Given the description of an element on the screen output the (x, y) to click on. 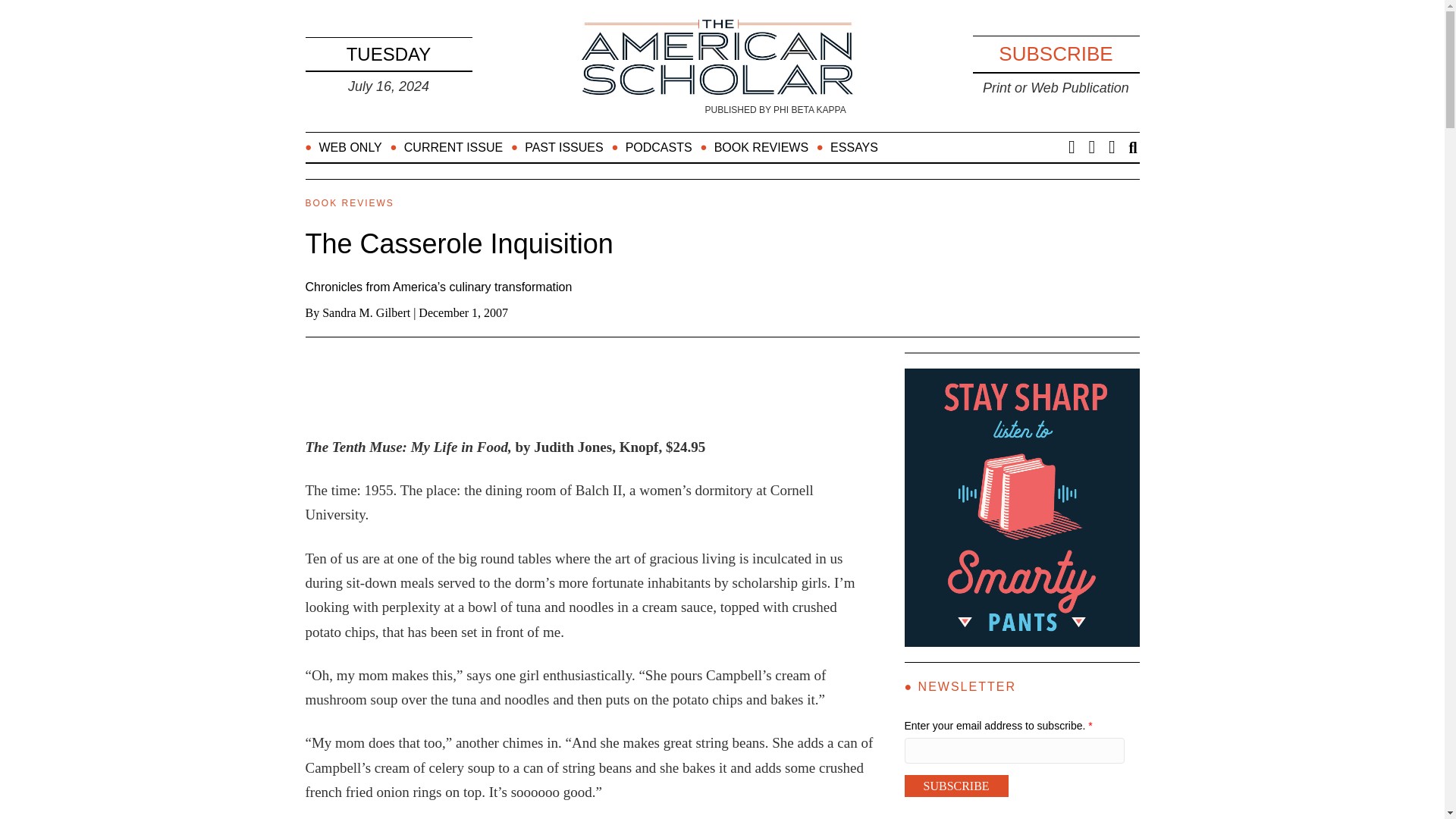
Subscribe (955, 785)
PODCASTS (655, 147)
ESSAYS (850, 147)
Sandra M. Gilbert (365, 312)
subscribe (1055, 53)
Subscribe (955, 785)
PAST ISSUES (560, 147)
BOOK REVIEWS (757, 147)
BOOK REVIEWS (348, 203)
CURRENT ISSUE (450, 147)
TAS.Logo.New.Sum22 (716, 59)
WEB ONLY (346, 147)
SUBSCRIBE (1055, 53)
